Given the description of an element on the screen output the (x, y) to click on. 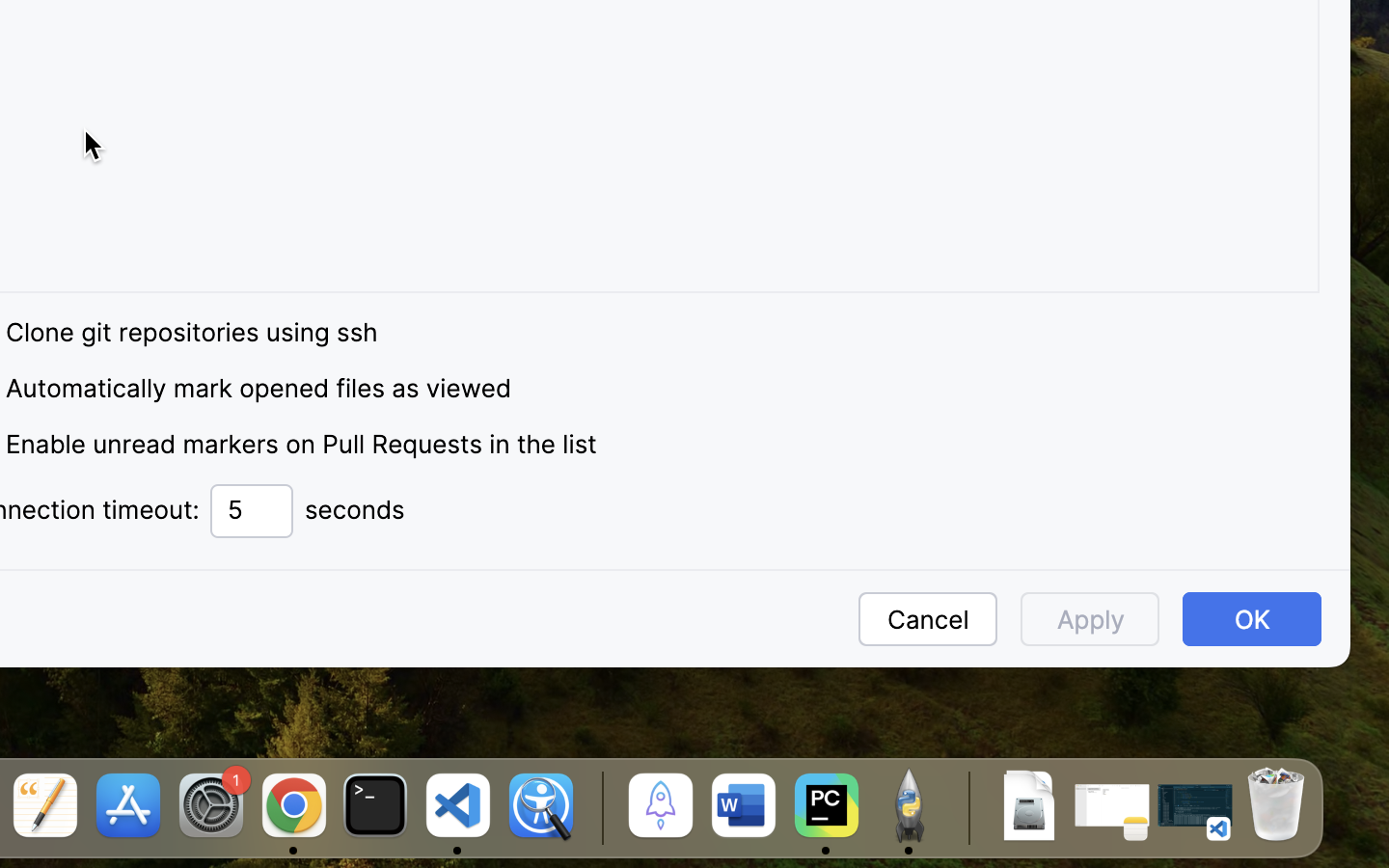
seconds Element type: AXStaticText (354, 509)
5 Element type: AXTextField (251, 510)
0.4285714328289032 Element type: AXDockItem (598, 807)
